Given the description of an element on the screen output the (x, y) to click on. 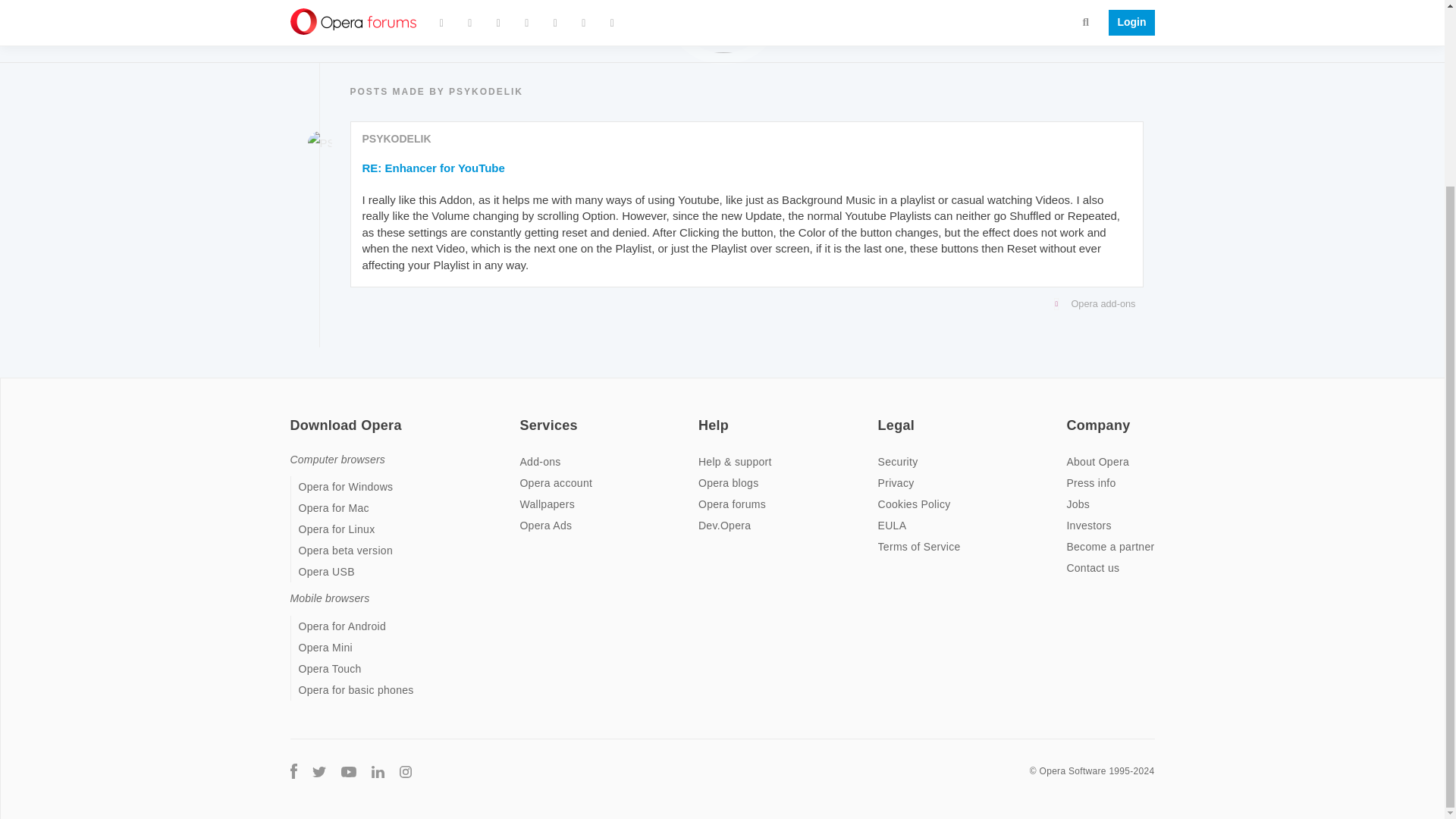
RE: Enhancer for YouTube (433, 167)
Home (303, 39)
on (702, 415)
on (293, 415)
Opera for Windows (345, 486)
Computer browsers (337, 459)
on (1070, 415)
Opera for Linux (336, 529)
PSYKODELIK (396, 138)
PSYKODELIK (369, 39)
on (881, 415)
Opera beta version (345, 550)
on (523, 415)
PSYKODELIK (319, 143)
Opera add-ons (742, 303)
